Given the description of an element on the screen output the (x, y) to click on. 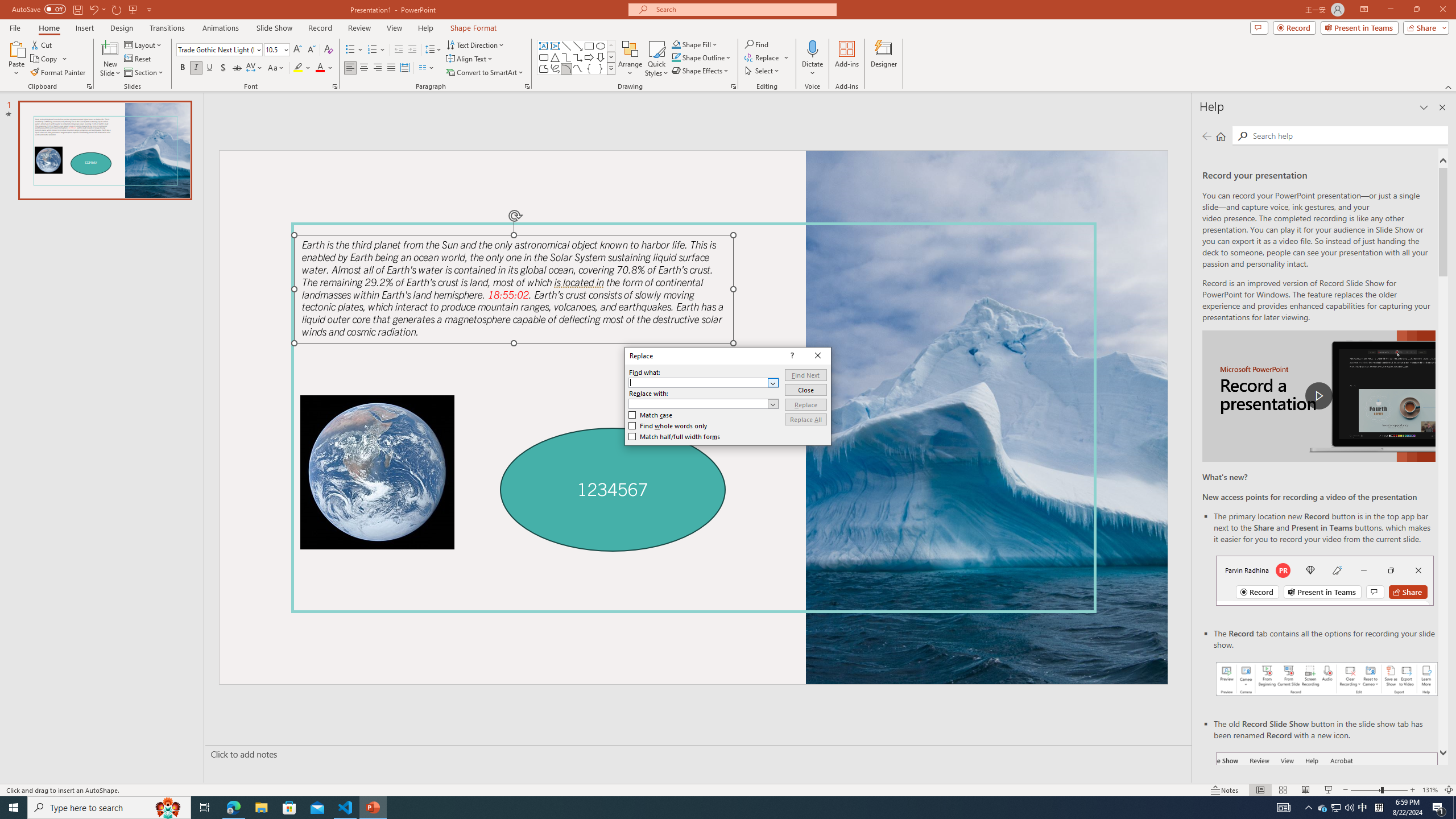
Arrow: Down (600, 57)
AutomationID: ShapesInsertGallery (576, 57)
Shape Fill Aqua, Accent 2 (675, 44)
Character Spacing (254, 67)
Clear Formatting (327, 49)
Curve (577, 68)
Replace with (697, 403)
Find what (697, 382)
Search highlights icon opens search home window (167, 807)
